Given the description of an element on the screen output the (x, y) to click on. 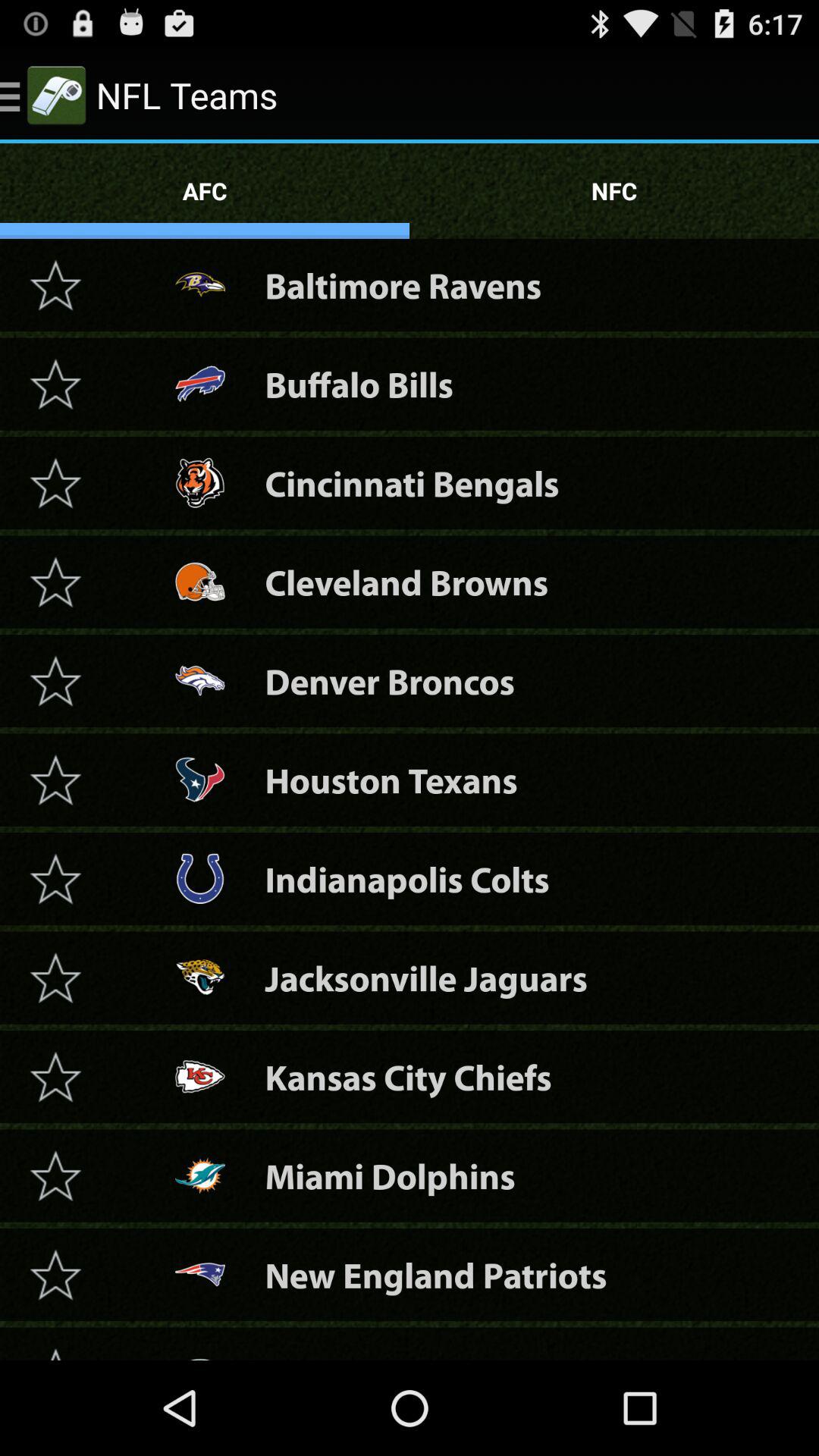
favorite the miami dolphins (55, 1175)
